Given the description of an element on the screen output the (x, y) to click on. 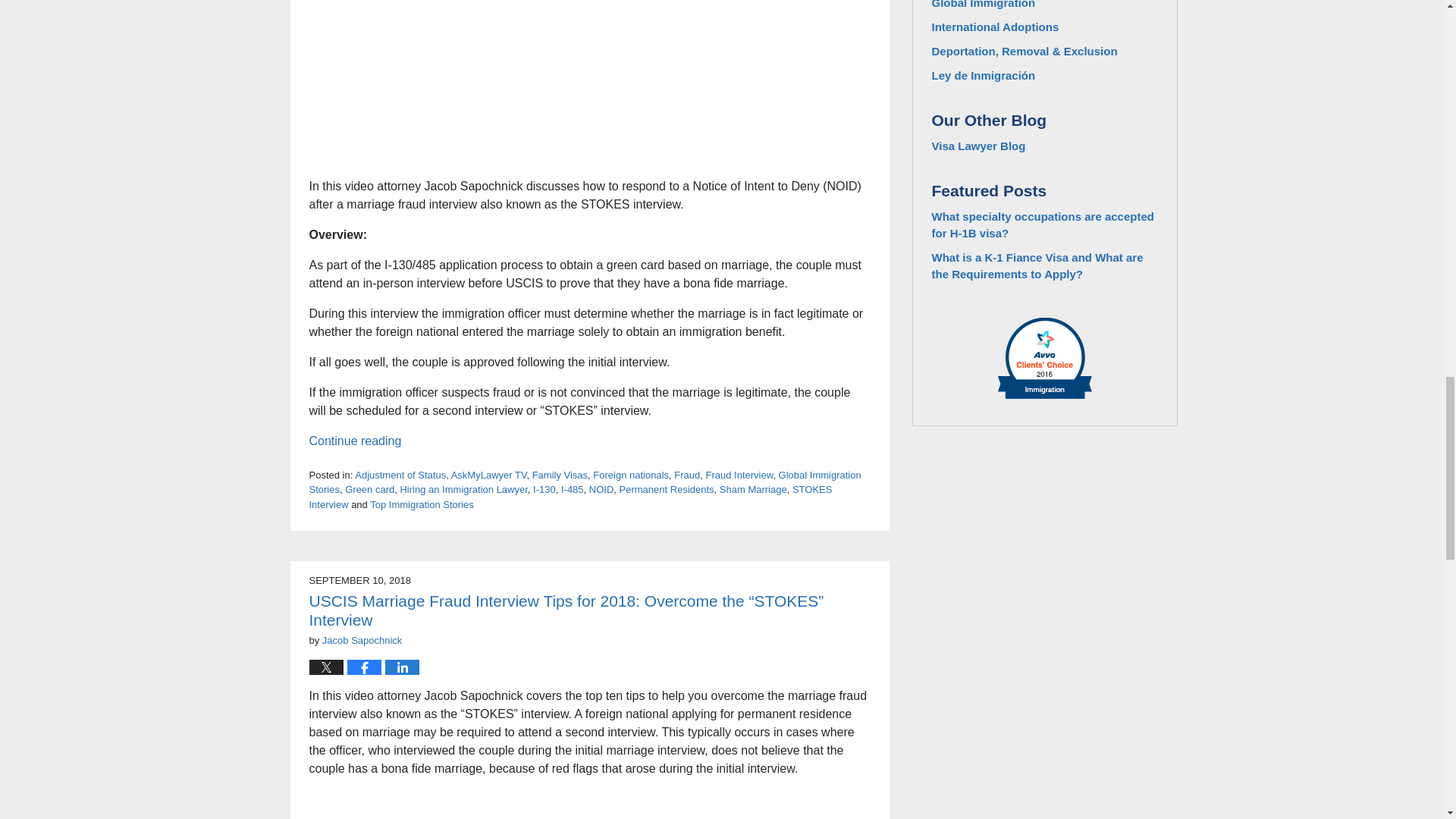
View all posts in Adjustment of Status (400, 474)
View all posts in AskMyLawyer TV (489, 474)
